Given the description of an element on the screen output the (x, y) to click on. 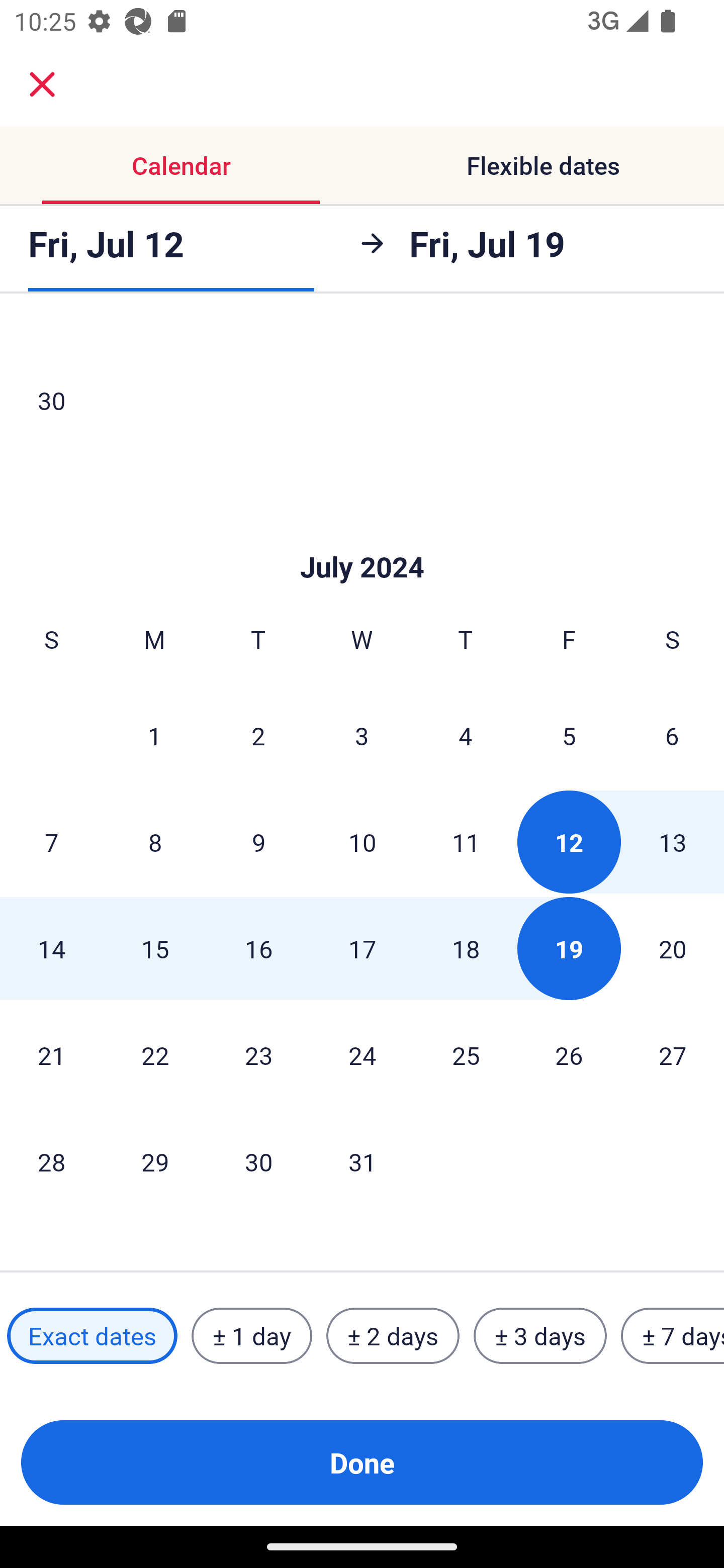
close. (42, 84)
Flexible dates (542, 164)
30 Sunday, June 30, 2024 (51, 399)
Skip to Done (362, 537)
1 Monday, July 1, 2024 (154, 735)
2 Tuesday, July 2, 2024 (257, 735)
3 Wednesday, July 3, 2024 (361, 735)
4 Thursday, July 4, 2024 (465, 735)
5 Friday, July 5, 2024 (568, 735)
6 Saturday, July 6, 2024 (672, 735)
7 Sunday, July 7, 2024 (51, 841)
8 Monday, July 8, 2024 (155, 841)
9 Tuesday, July 9, 2024 (258, 841)
10 Wednesday, July 10, 2024 (362, 841)
11 Thursday, July 11, 2024 (465, 841)
20 Saturday, July 20, 2024 (672, 948)
21 Sunday, July 21, 2024 (51, 1055)
22 Monday, July 22, 2024 (155, 1055)
23 Tuesday, July 23, 2024 (258, 1055)
24 Wednesday, July 24, 2024 (362, 1055)
25 Thursday, July 25, 2024 (465, 1055)
26 Friday, July 26, 2024 (569, 1055)
27 Saturday, July 27, 2024 (672, 1055)
28 Sunday, July 28, 2024 (51, 1161)
29 Monday, July 29, 2024 (155, 1161)
30 Tuesday, July 30, 2024 (258, 1161)
31 Wednesday, July 31, 2024 (362, 1161)
Exact dates (92, 1335)
± 1 day (251, 1335)
± 2 days (392, 1335)
± 3 days (539, 1335)
± 7 days (672, 1335)
Done (361, 1462)
